Given the description of an element on the screen output the (x, y) to click on. 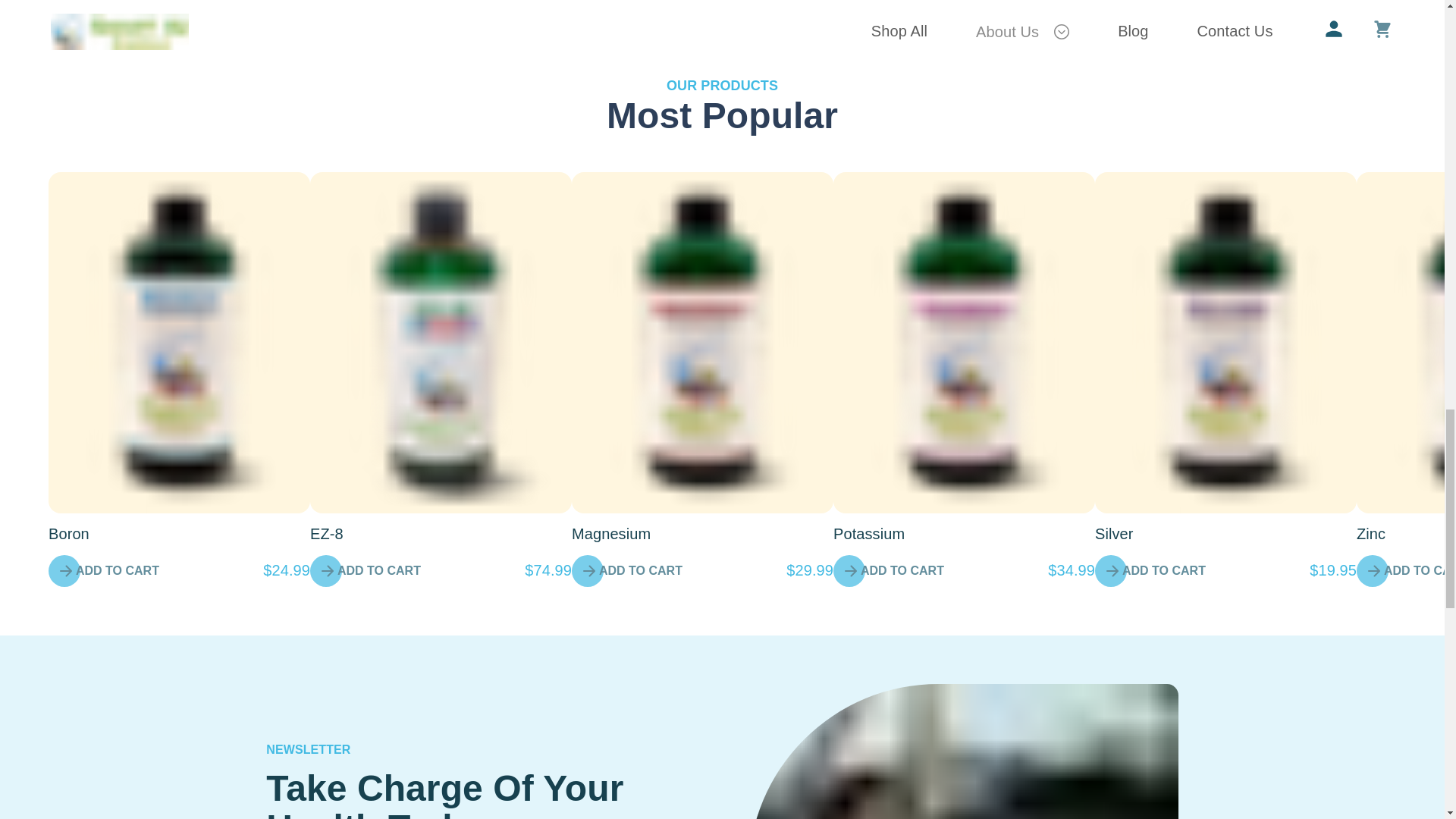
EZ-8 (326, 534)
ADD TO CART (369, 571)
Boron (68, 534)
ADD TO CART (108, 571)
